Given the description of an element on the screen output the (x, y) to click on. 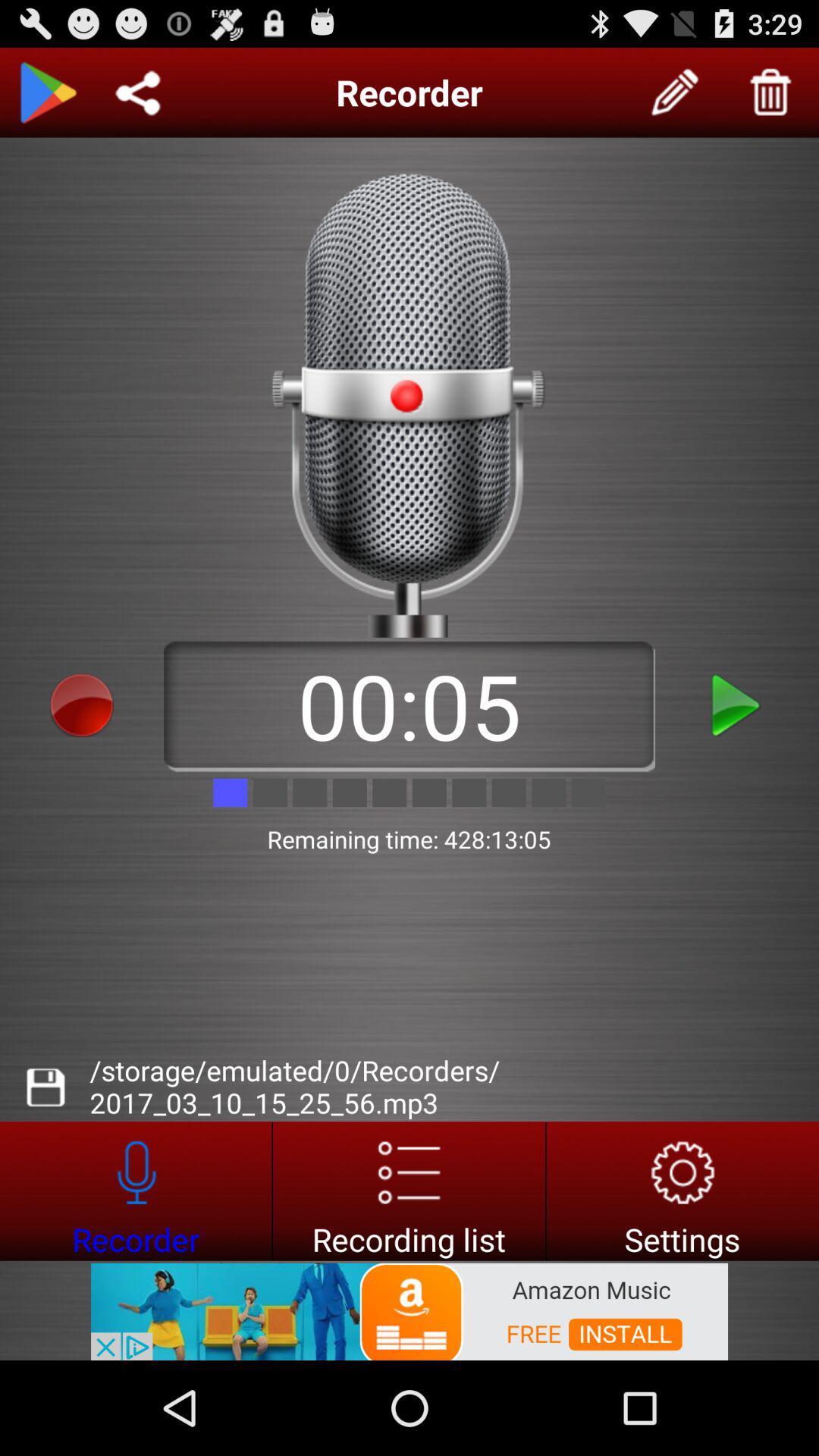
open the recording list (409, 1190)
